Given the description of an element on the screen output the (x, y) to click on. 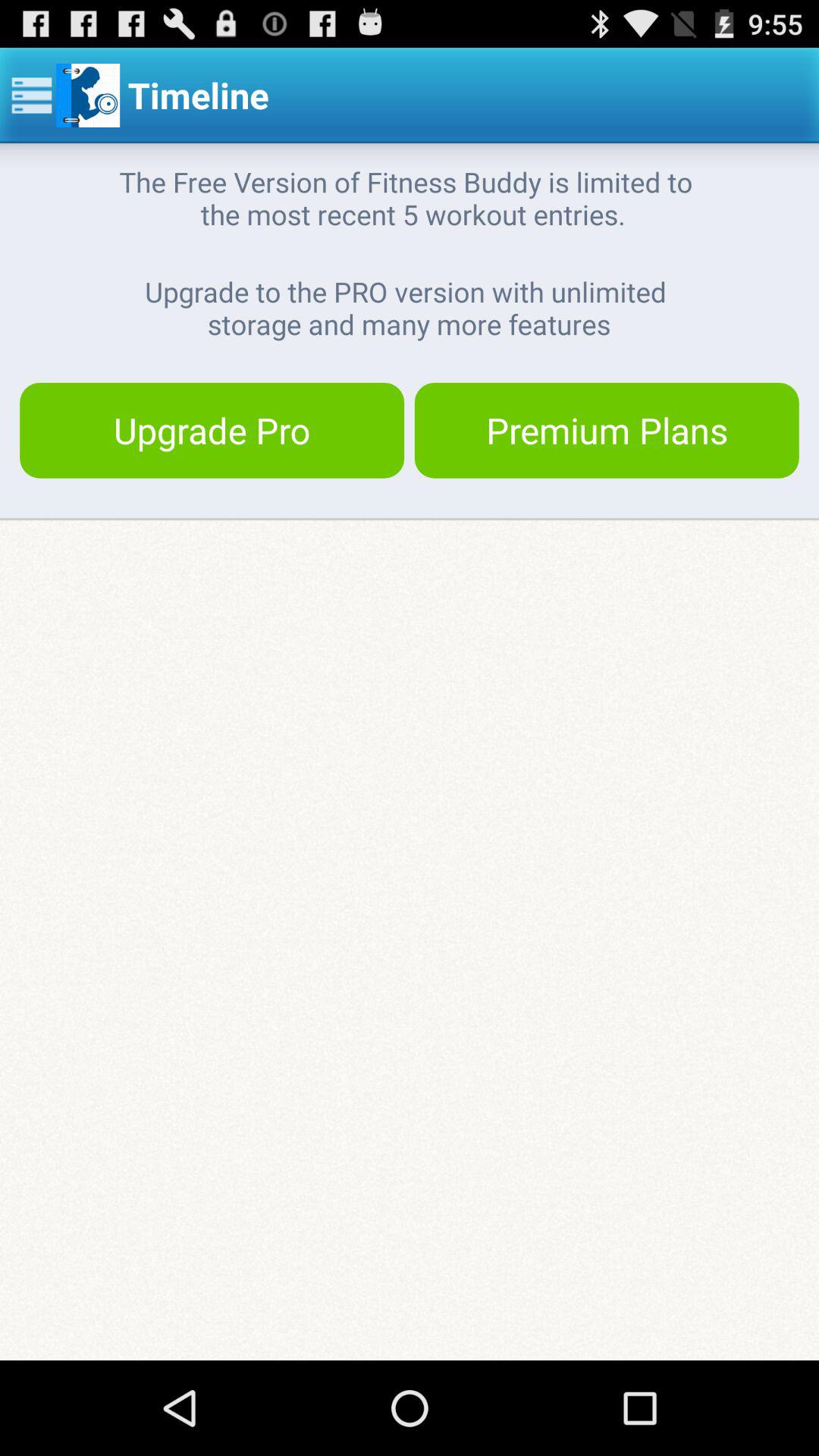
choose the icon to the right of upgrade pro item (606, 430)
